Given the description of an element on the screen output the (x, y) to click on. 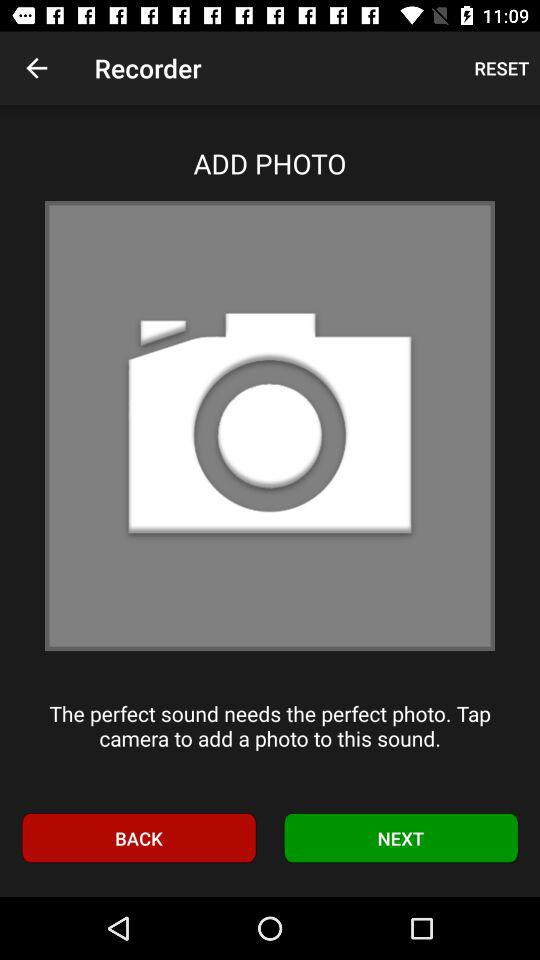
add a photograph to the area (270, 426)
